Given the description of an element on the screen output the (x, y) to click on. 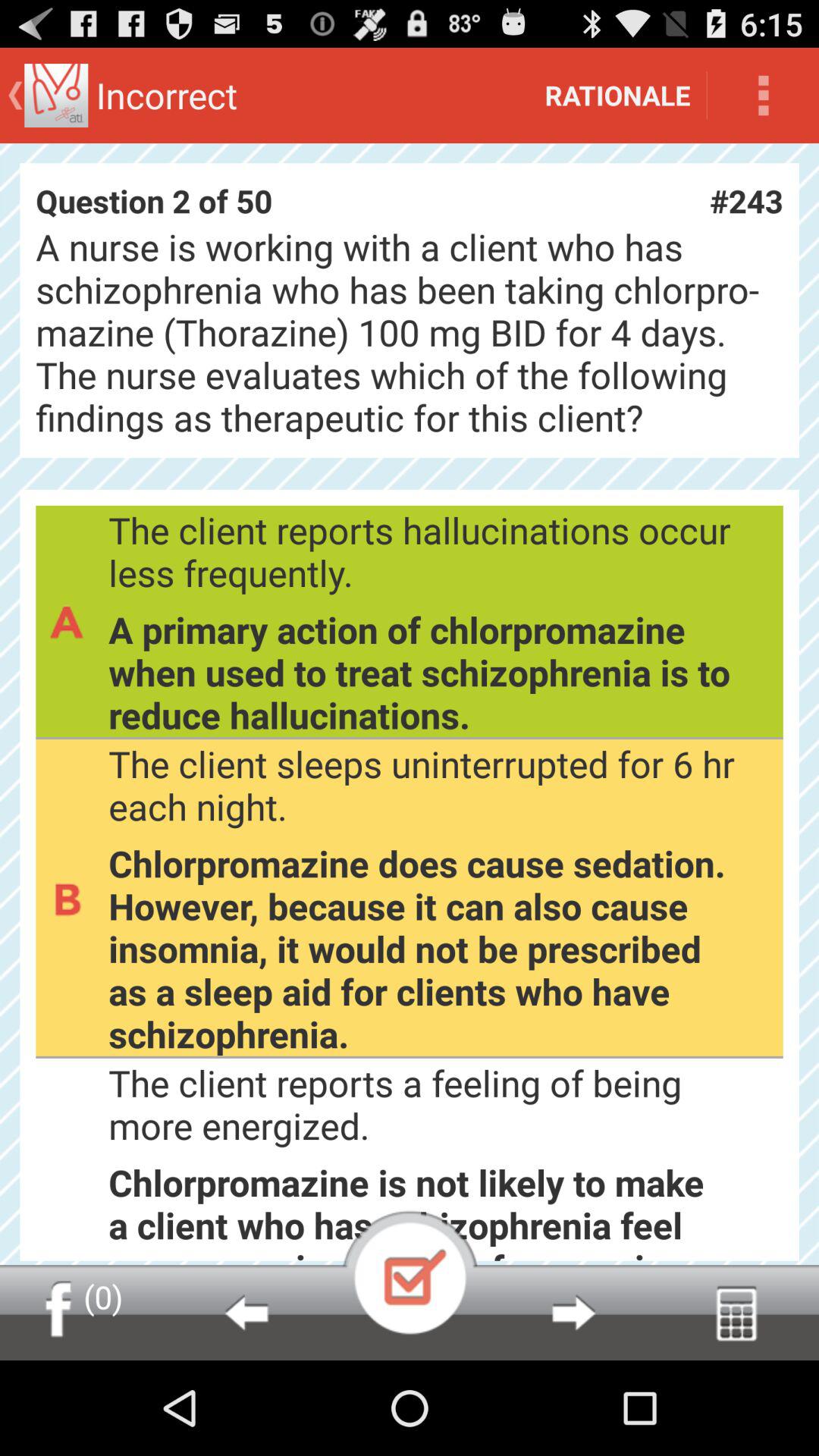
confirm answer (409, 1272)
